Given the description of an element on the screen output the (x, y) to click on. 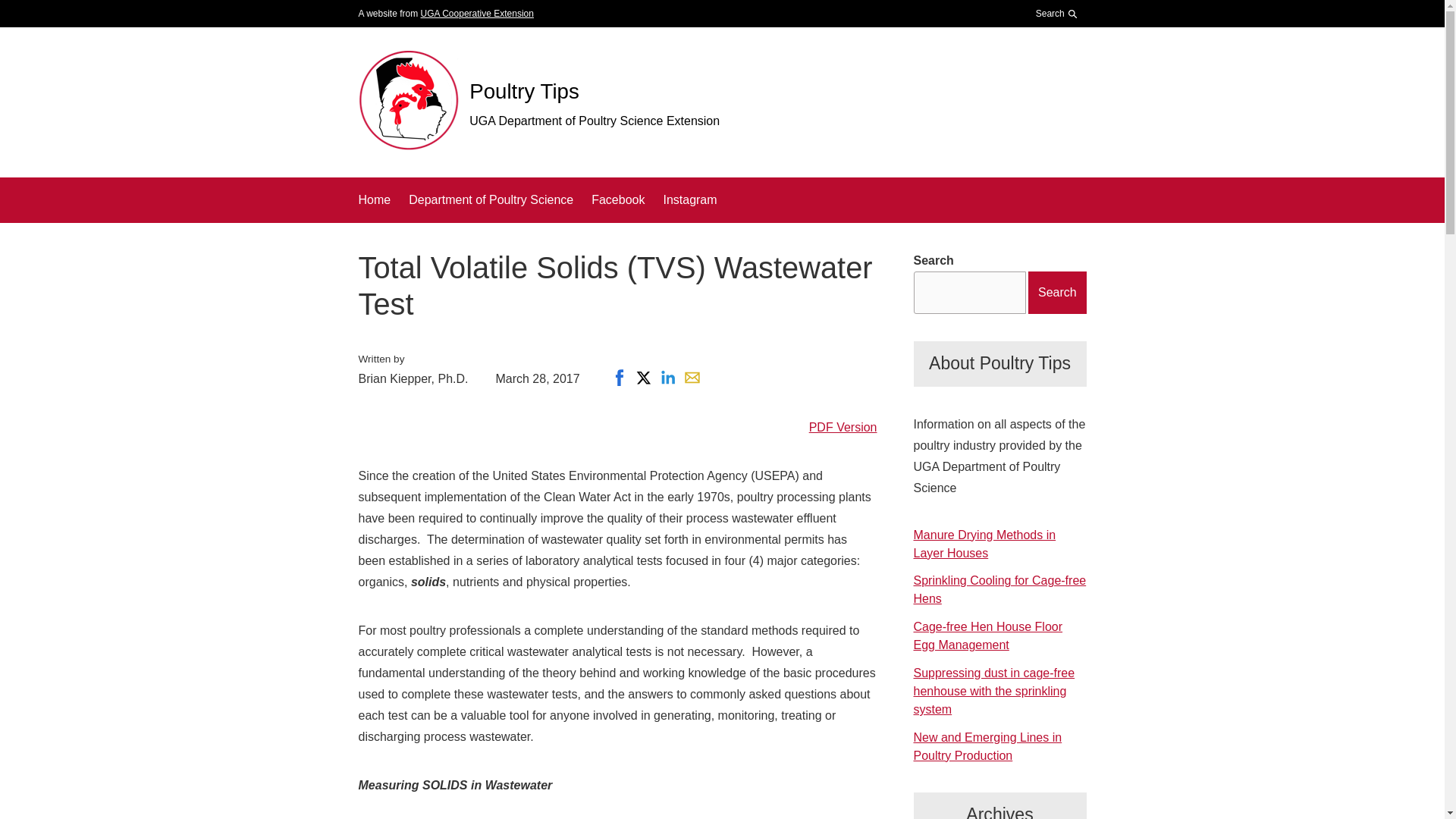
Search (1056, 13)
Share on X, opens in new window (643, 377)
New and Emerging Lines in Poultry Production (986, 746)
Sprinkling Cooling for Cage-free Hens (999, 589)
Department of Poultry Science (491, 199)
Facebook (618, 199)
Search (1053, 51)
Share on LinkedIn (667, 377)
Share on Facebook, opens in new window (619, 377)
Manure Drying Methods in Layer Houses (983, 543)
PDF Version (843, 427)
Instagram (689, 199)
Poultry Tips (523, 91)
Share with email, opens in email application (691, 377)
